Given the description of an element on the screen output the (x, y) to click on. 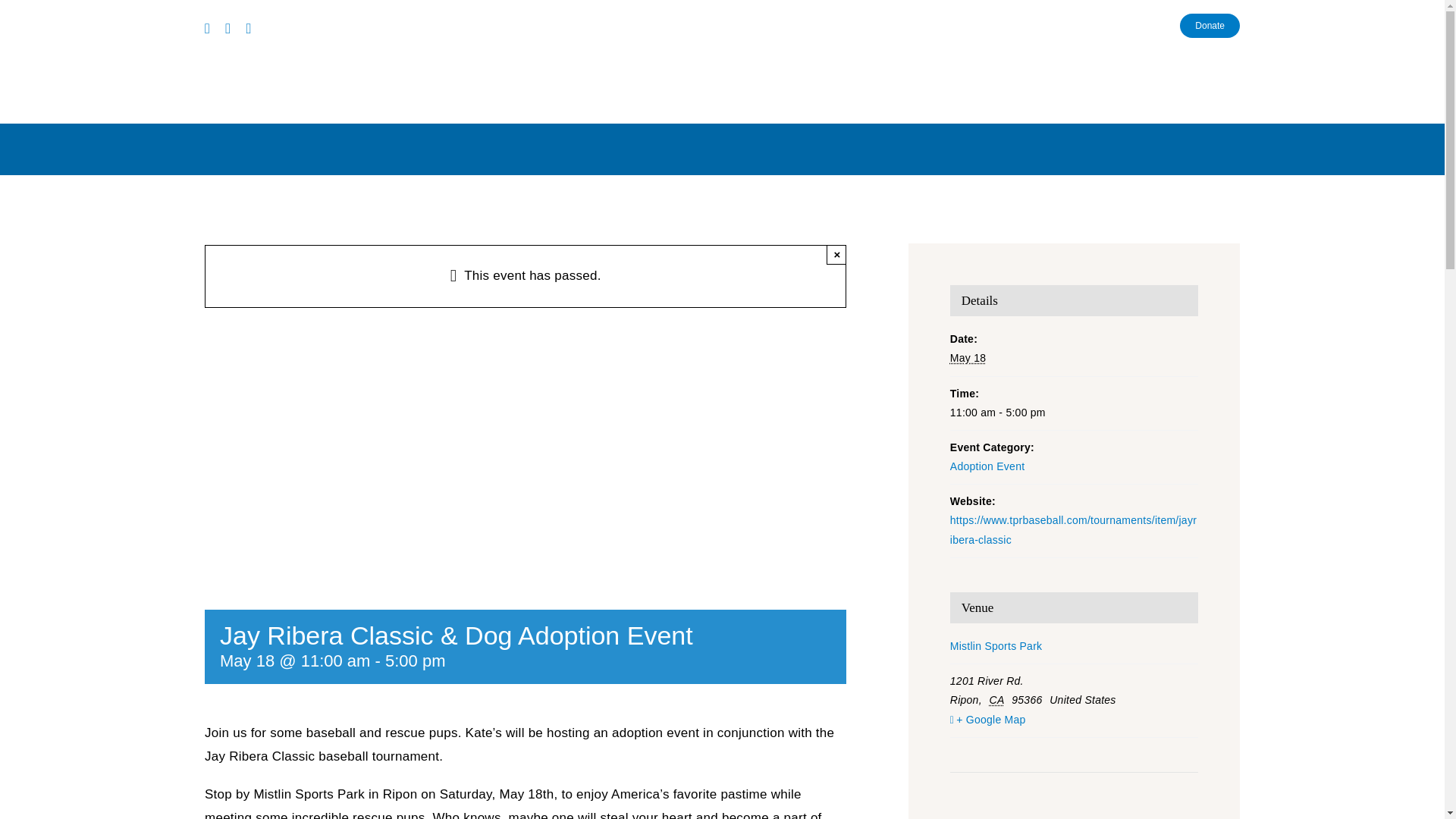
Donate (1209, 25)
California (999, 699)
2024-05-18 (967, 357)
2024-05-18 (1074, 412)
Click to view a Google Map (1074, 719)
